Given the description of an element on the screen output the (x, y) to click on. 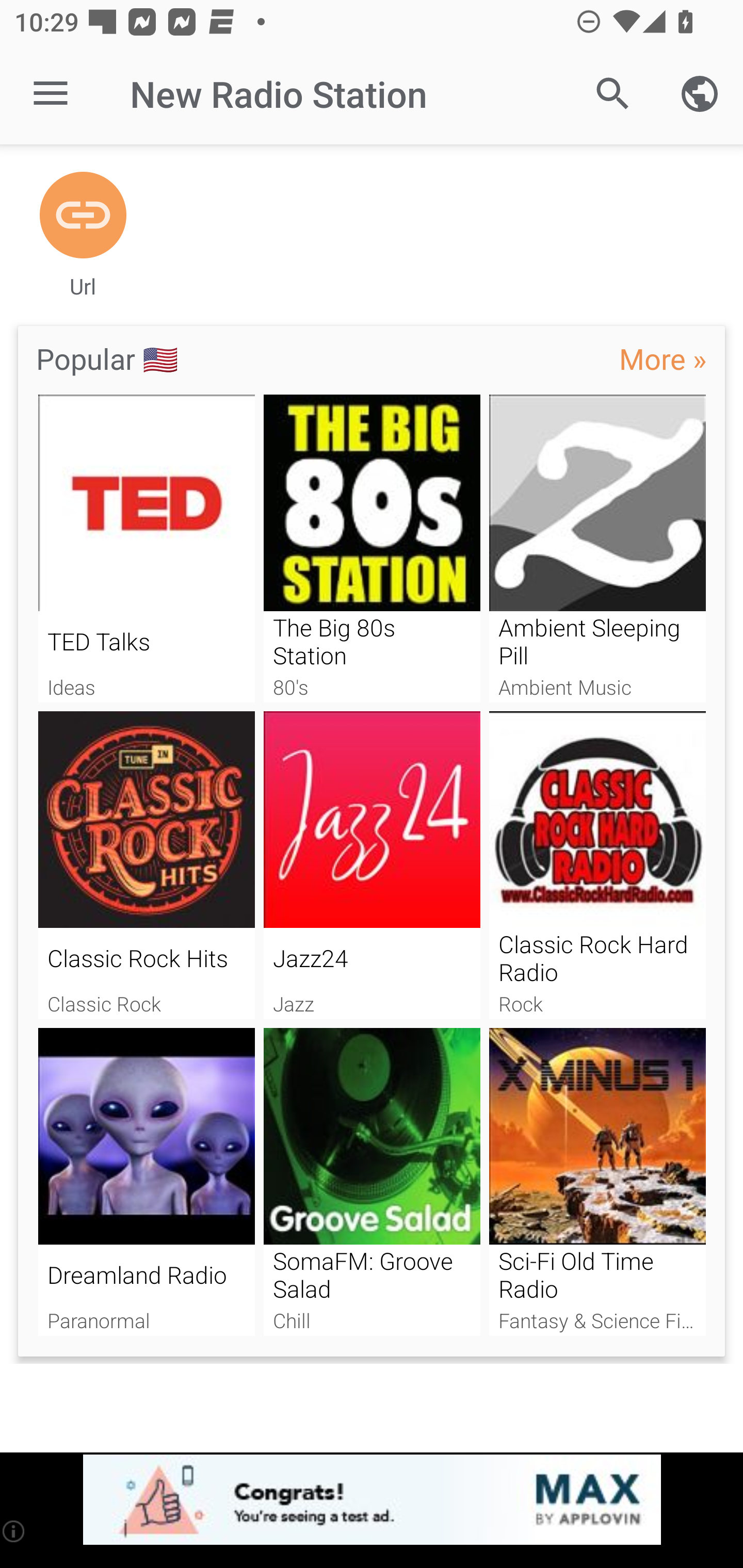
Open navigation sidebar (50, 93)
Search (612, 93)
Podcast languages (699, 93)
RSS (82, 215)
More » (662, 357)
TED Talks Ideas (145, 548)
The Big 80s Station 80's (371, 548)
Ambient Sleeping Pill Ambient Music (596, 548)
Classic Rock Hits Classic Rock (145, 865)
Jazz24 Jazz (371, 865)
Classic Rock Hard Radio Rock (596, 865)
Dreamland Radio Paranormal (145, 1181)
SomaFM: Groove Salad Chill (371, 1181)
app-monetization (371, 1500)
(i) (14, 1531)
